Given the description of an element on the screen output the (x, y) to click on. 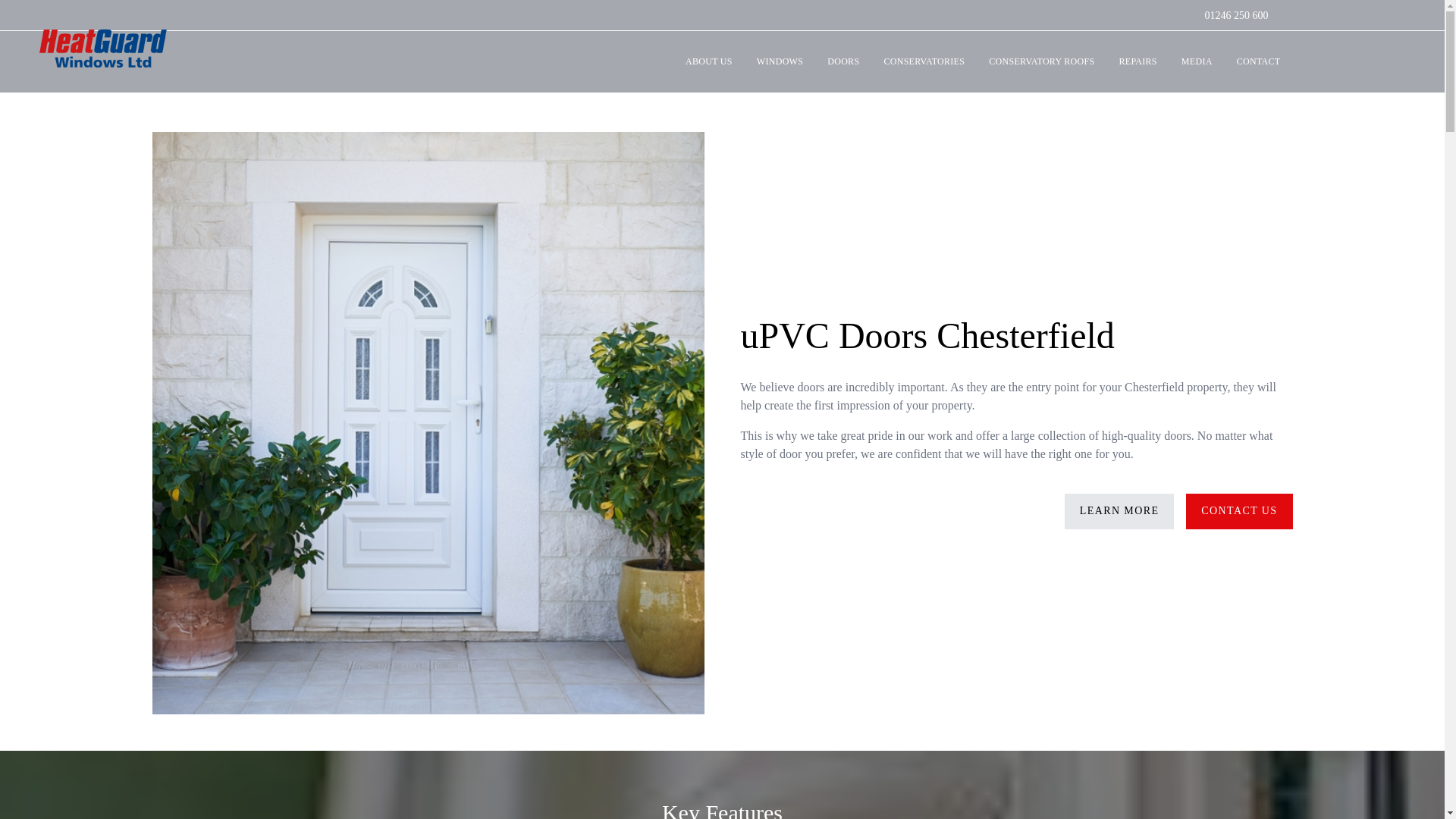
CONSERVATORIES (923, 61)
ABOUT US (708, 61)
MEDIA (1196, 61)
CONTACT (1258, 61)
01246 250 600 (1236, 15)
CONSERVATORY ROOFS (1041, 61)
DOORS (842, 61)
REPAIRS (1137, 61)
WINDOWS (779, 61)
